Given the description of an element on the screen output the (x, y) to click on. 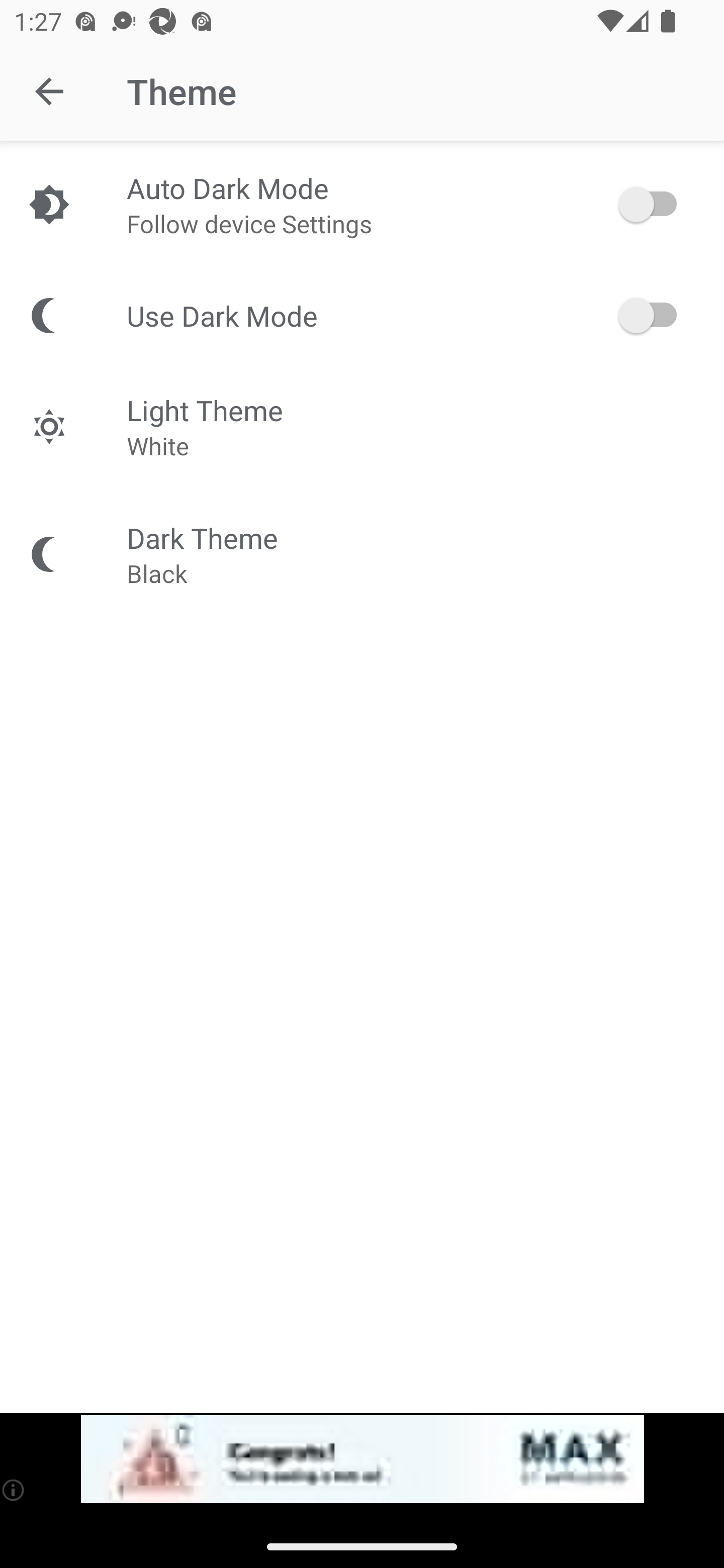
Navigate up (49, 91)
Auto Dark Mode Follow device Settings (362, 204)
Use Dark Mode (362, 315)
Light Theme White (362, 426)
Dark Theme Black (362, 553)
app-monetization (362, 1459)
(i) (14, 1489)
